Given the description of an element on the screen output the (x, y) to click on. 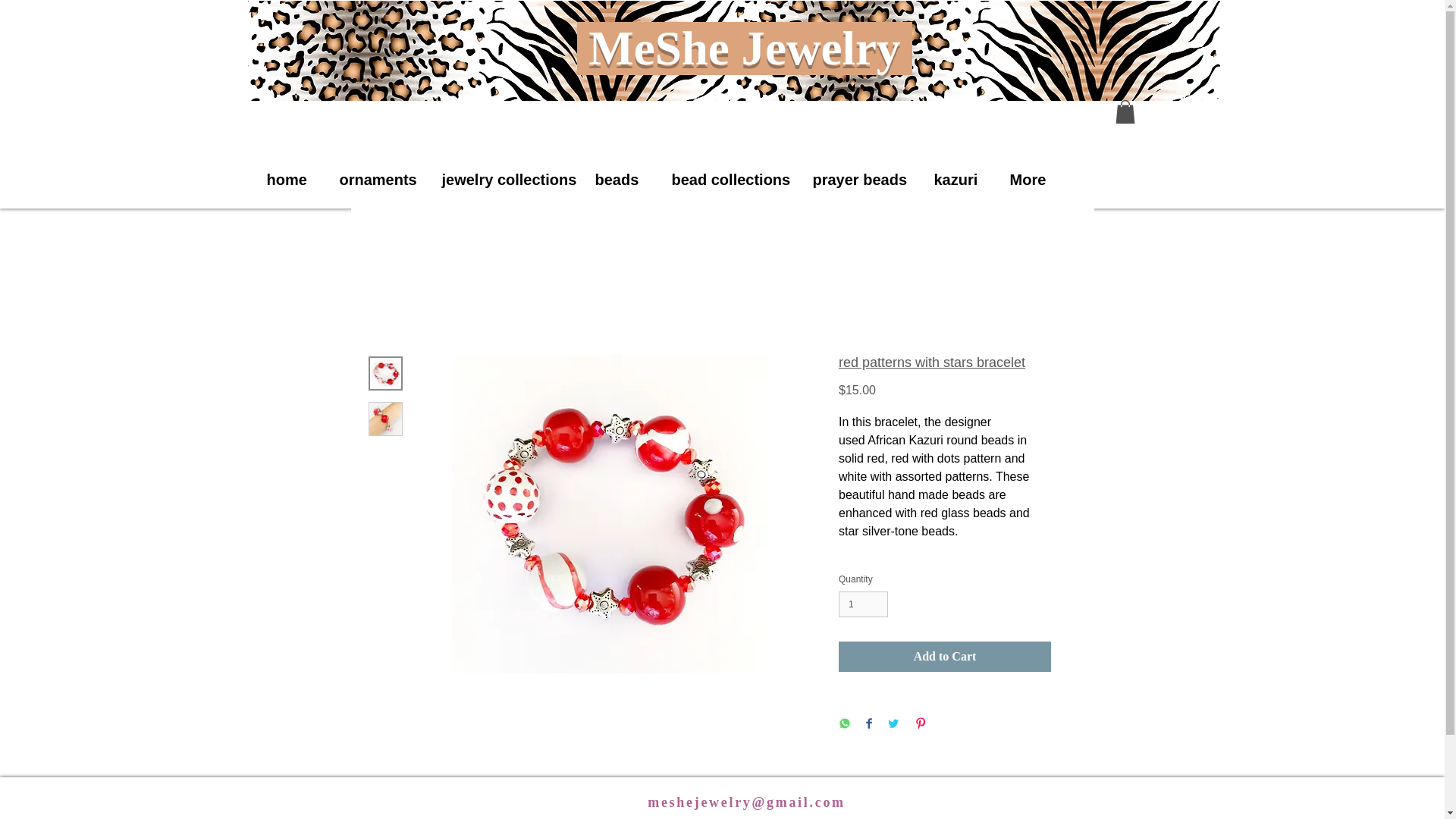
ornaments (371, 179)
beads (614, 179)
bead collections (722, 179)
home (283, 179)
jewelry collections (499, 179)
1 (863, 604)
